Given the description of an element on the screen output the (x, y) to click on. 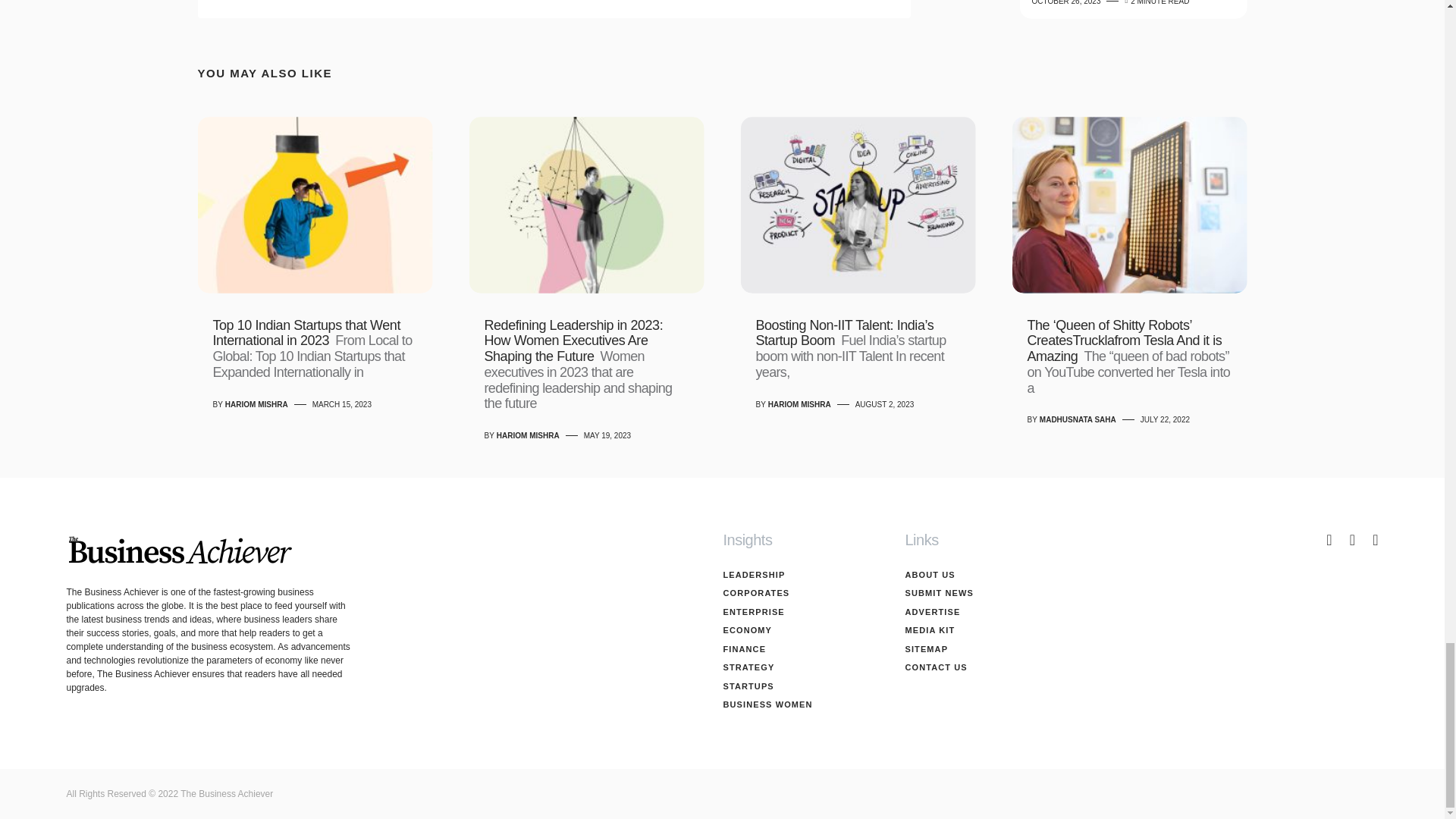
View all posts by Hariom Mishra (799, 403)
View all posts by Hariom Mishra (527, 435)
View all posts by Hariom Mishra (256, 403)
View all posts by Madhusnata Saha (1077, 419)
